Given the description of an element on the screen output the (x, y) to click on. 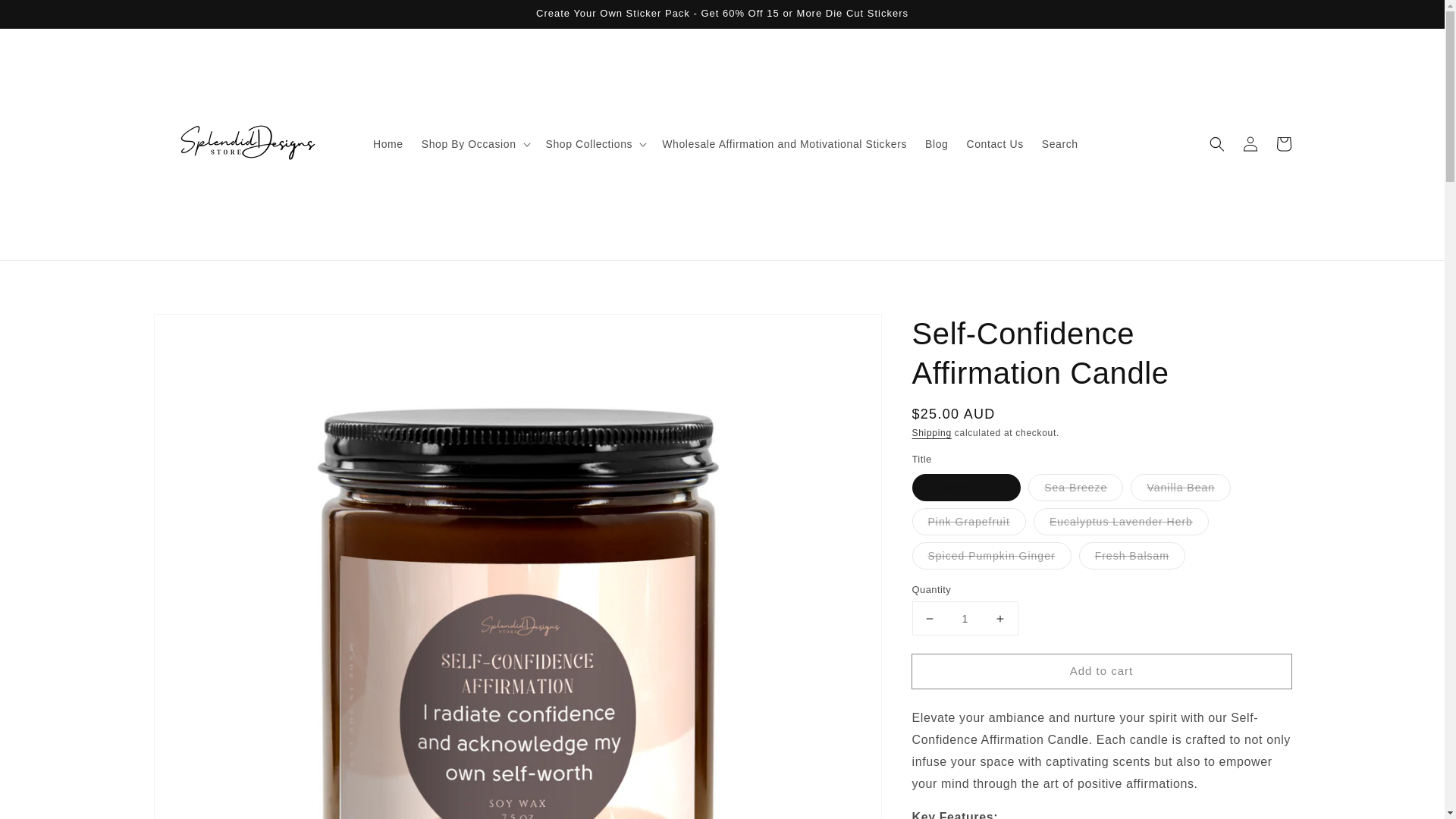
1 (964, 617)
Skip to content (45, 16)
